Given the description of an element on the screen output the (x, y) to click on. 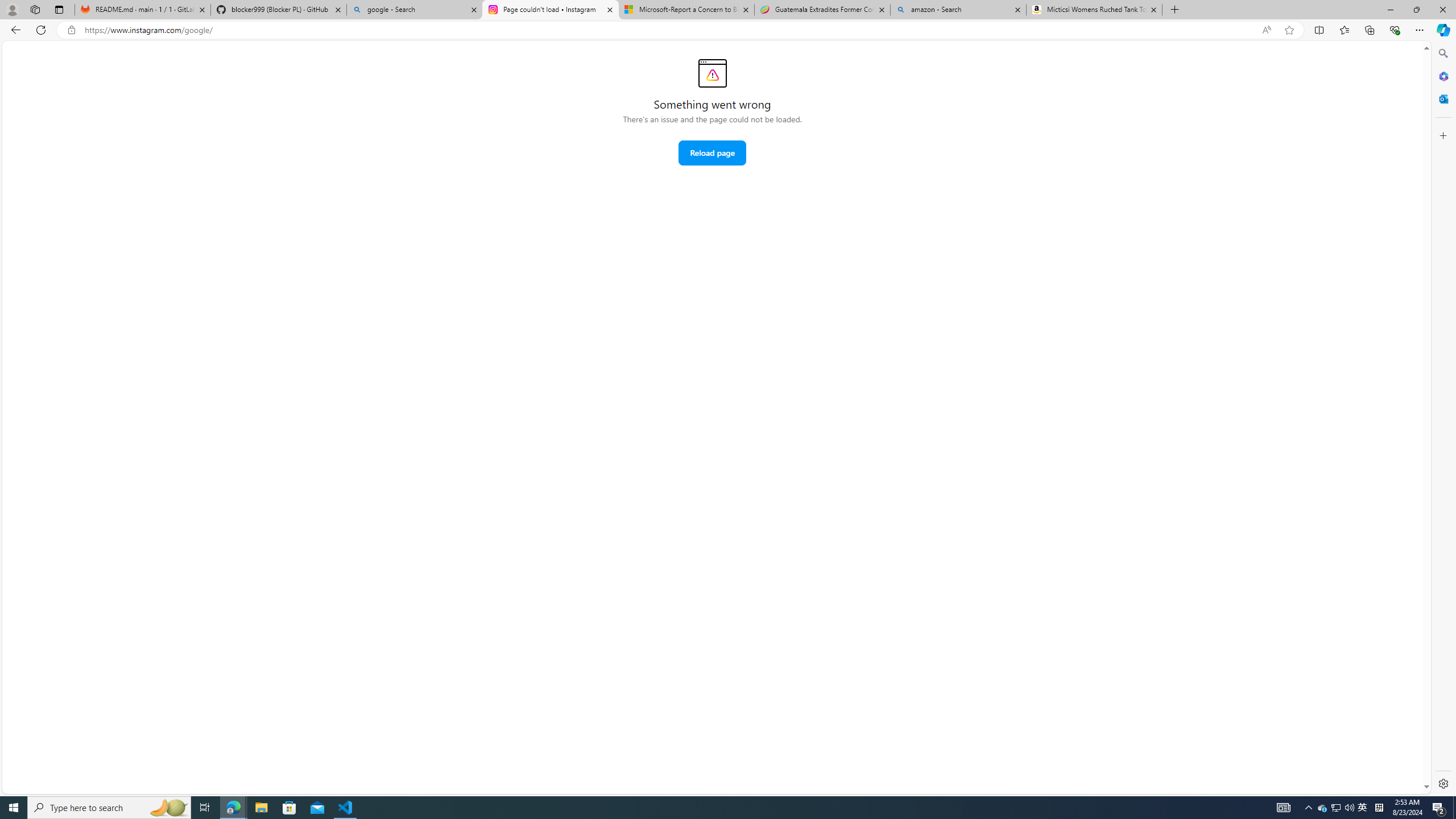
Browser essentials (1394, 29)
Back (13, 29)
Side bar (1443, 418)
Minimize (1390, 9)
Microsoft 365 (1442, 76)
Restore (1416, 9)
